Given the description of an element on the screen output the (x, y) to click on. 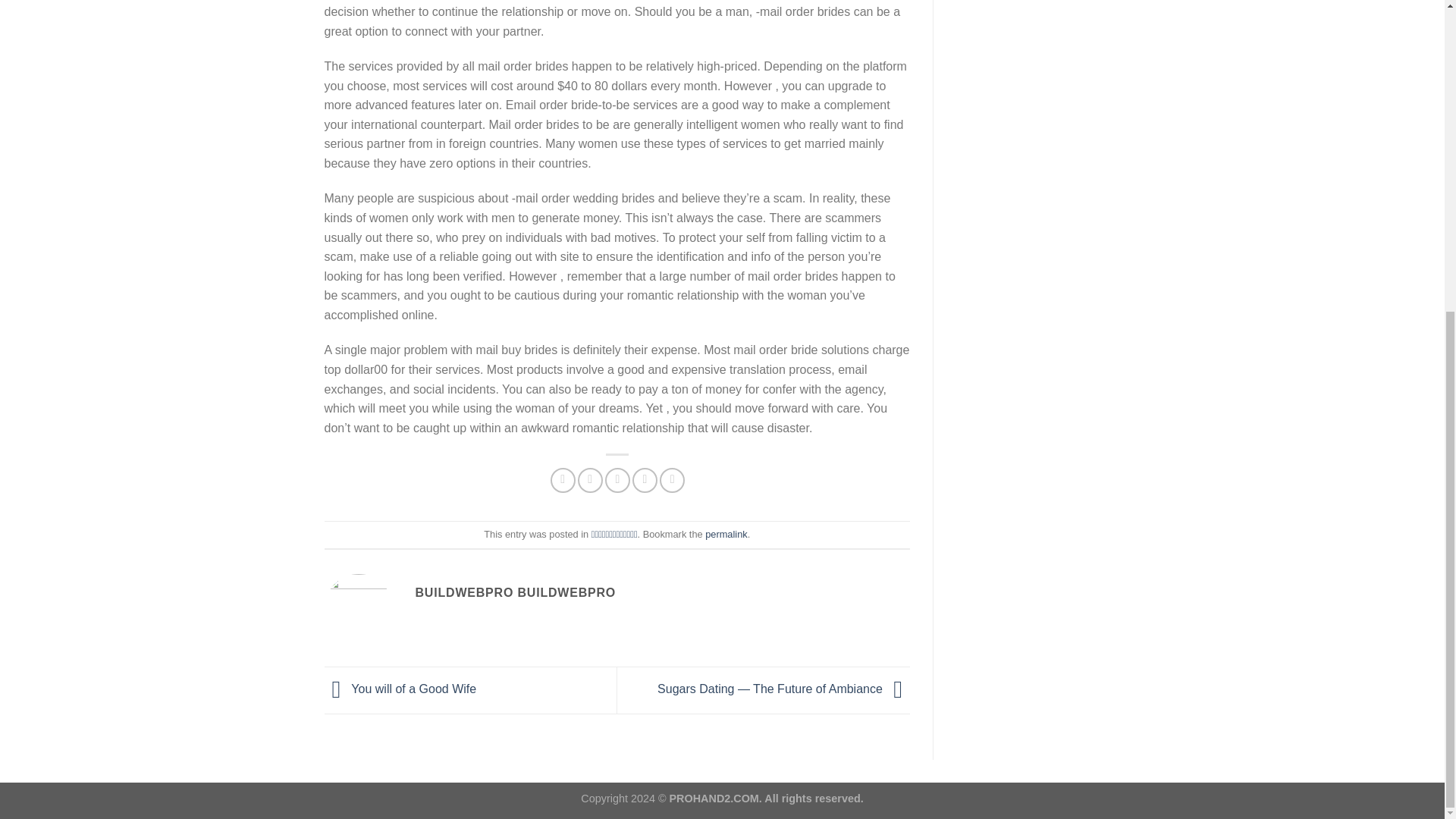
Permalink to Is it Legal to Marry a Mail Buy Bride? (725, 533)
permalink (725, 533)
You will of a Good Wife (400, 688)
